Given the description of an element on the screen output the (x, y) to click on. 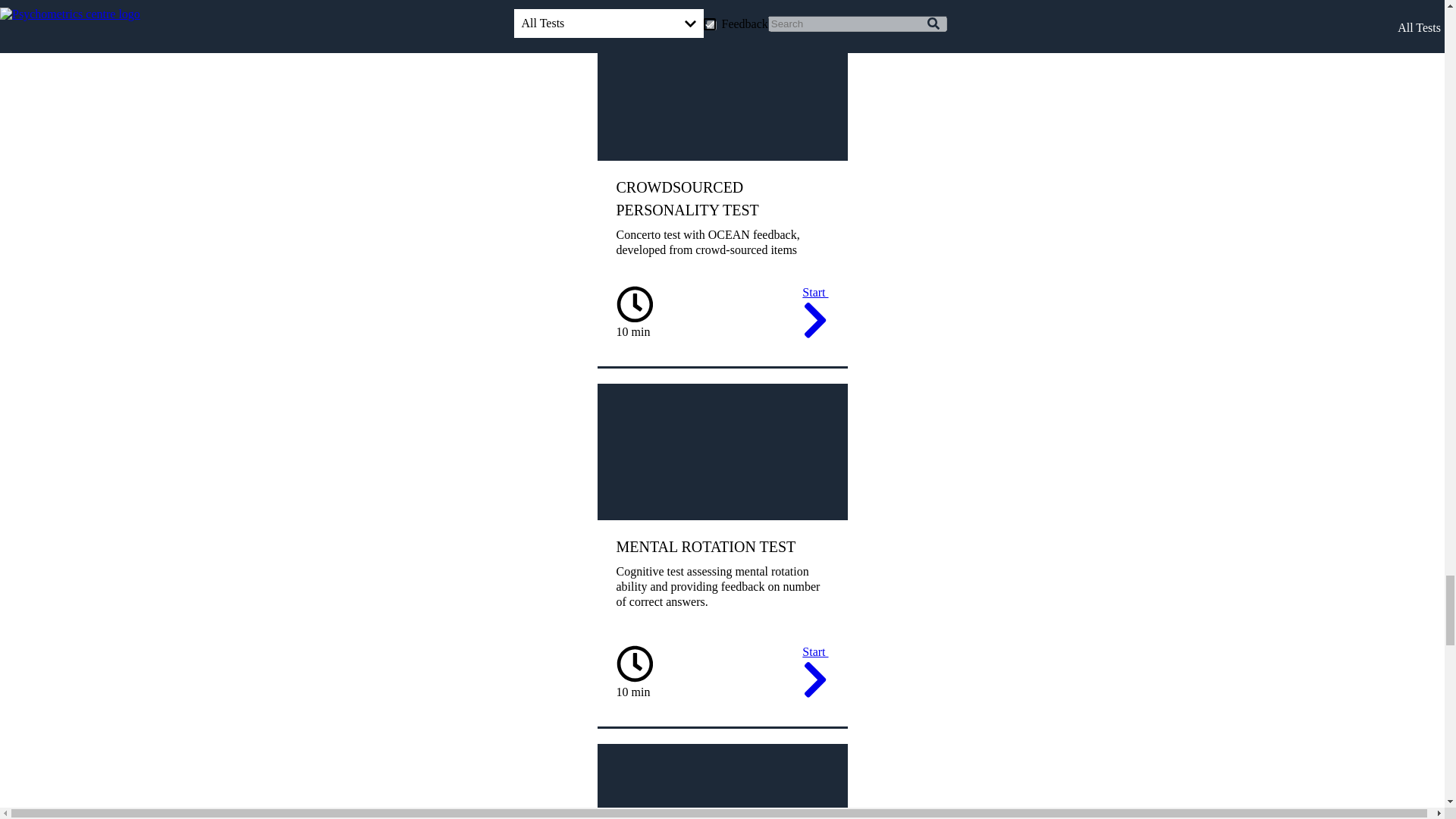
Start  (815, 674)
Start  (815, 314)
